Given the description of an element on the screen output the (x, y) to click on. 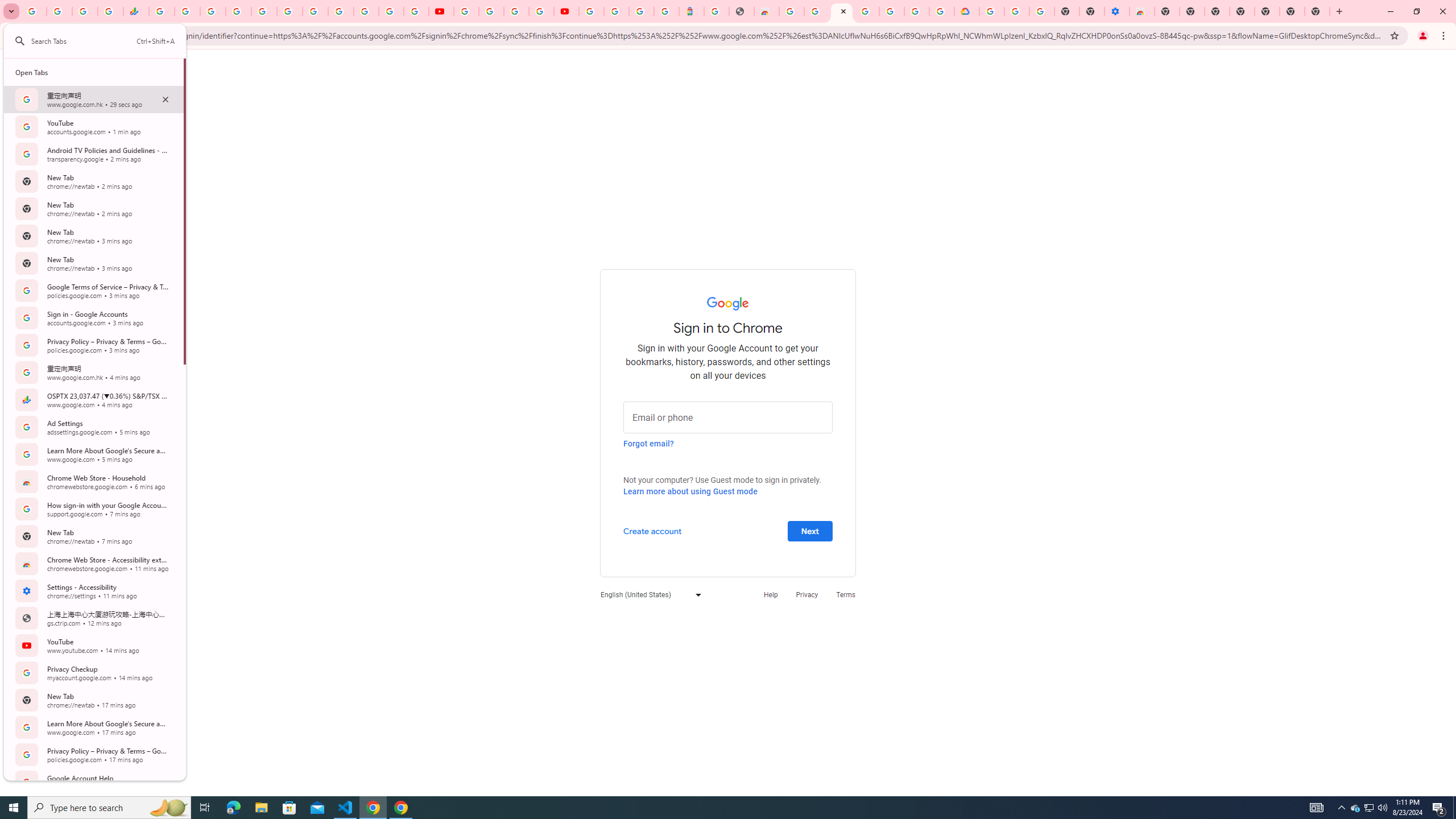
Privacy Checkup myaccount.google.com 14 mins ago Open Tab (93, 672)
User Promoted Notification Area (1368, 807)
Next (809, 530)
Settings - Accessibility settings 11 mins ago Open Tab (93, 590)
Ad Settings adssettings.google.com 5 mins ago Open Tab (93, 426)
Email or phone (727, 416)
New Tab (1166, 11)
Microsoft Store (289, 807)
English (United States) (647, 594)
